Given the description of an element on the screen output the (x, y) to click on. 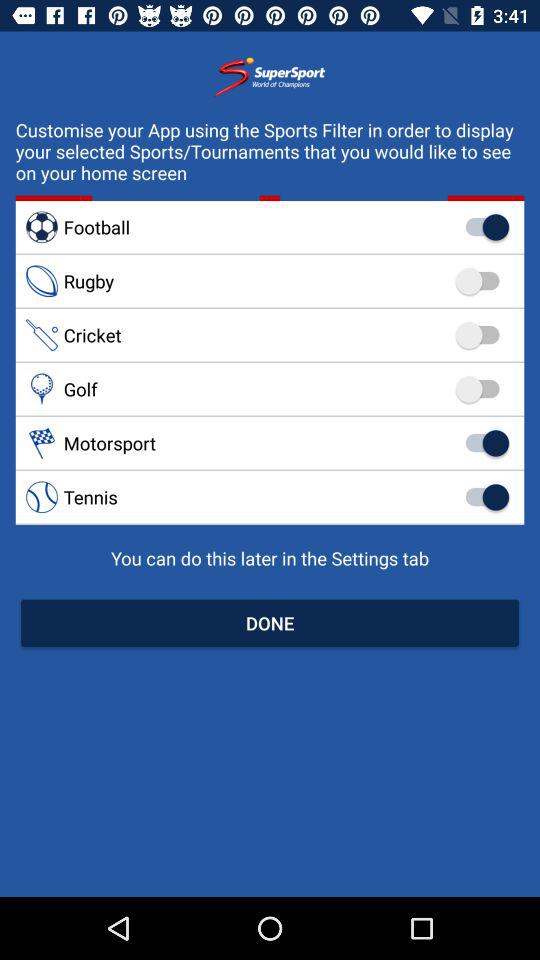
press the item below the you can do item (269, 622)
